Given the description of an element on the screen output the (x, y) to click on. 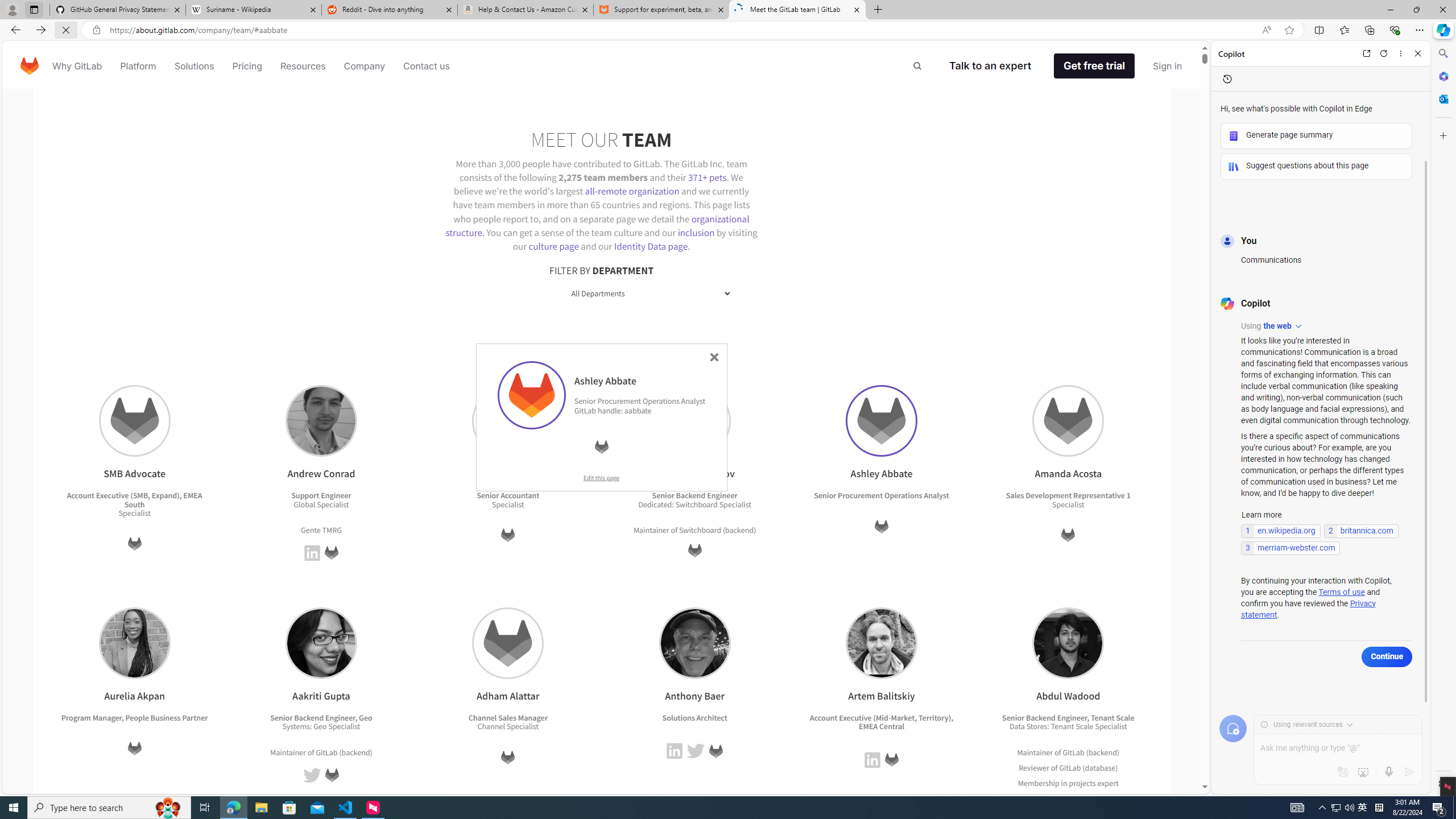
Ayesha Zubair (507, 420)
GitLab (1069, 767)
Senior Backend Engineer (1044, 717)
GitHub General Privacy Statement - GitHub Docs (117, 9)
Artem Balitskiy (880, 642)
Account Executive (SMB, Expand), EMEA South (134, 499)
Resources (302, 65)
Senior Accountant (508, 495)
